Given the description of an element on the screen output the (x, y) to click on. 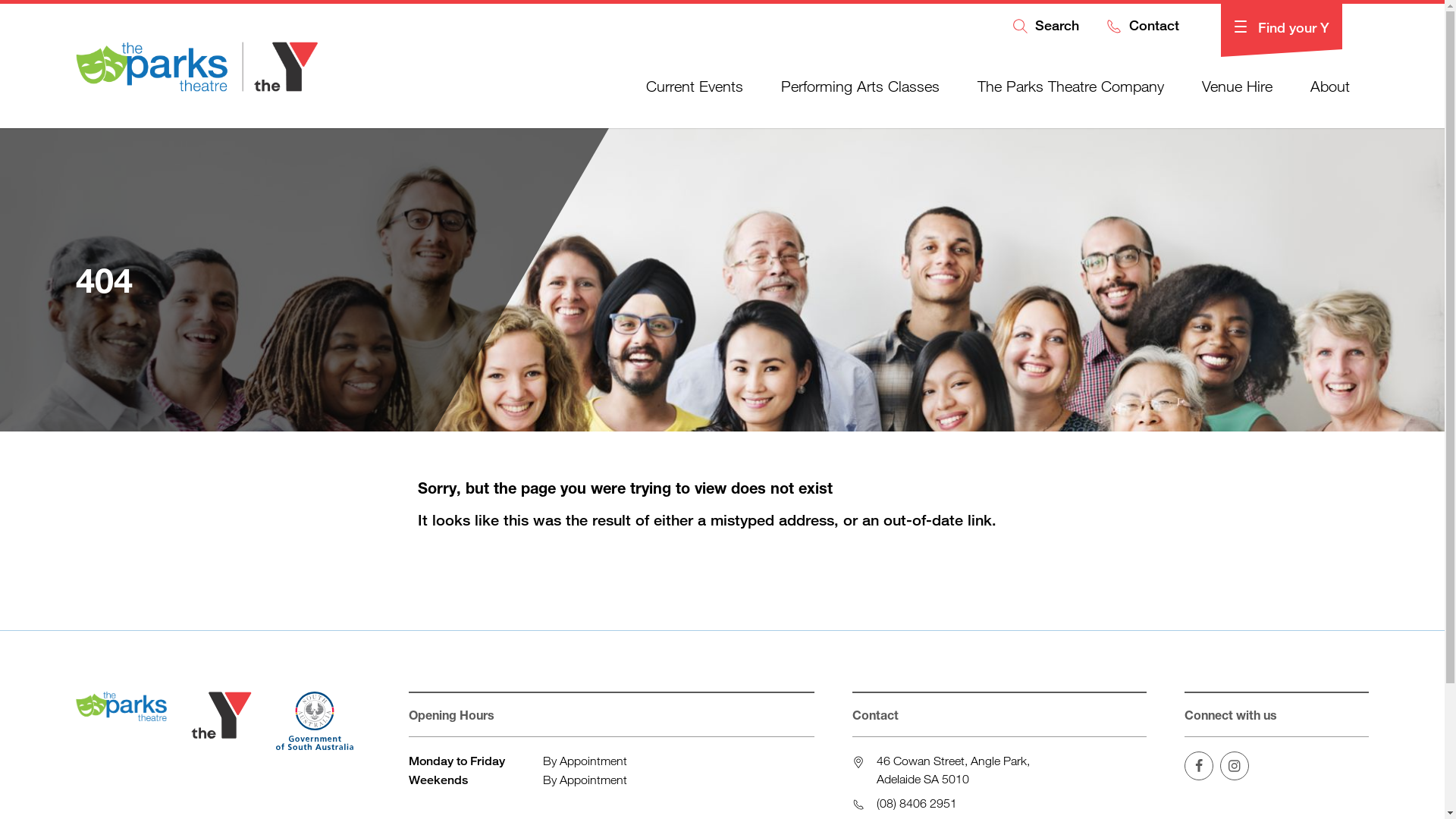
About Element type: text (1329, 86)
Current Events Element type: text (694, 86)
/TheParksTheatre Element type: hover (1198, 765)
Venue Hire Element type: text (1236, 86)
The Parks Theatre Company Element type: text (1070, 86)
46 Cowan Street, Angle Park,
Adelaide SA 5010 Element type: text (952, 769)
(08) 8406 2951 Element type: text (916, 802)
Contact Element type: text (1142, 26)
Performing Arts Classes Element type: text (860, 86)
Search Element type: text (1045, 26)
theparkstheatre Element type: hover (1234, 765)
